Given the description of an element on the screen output the (x, y) to click on. 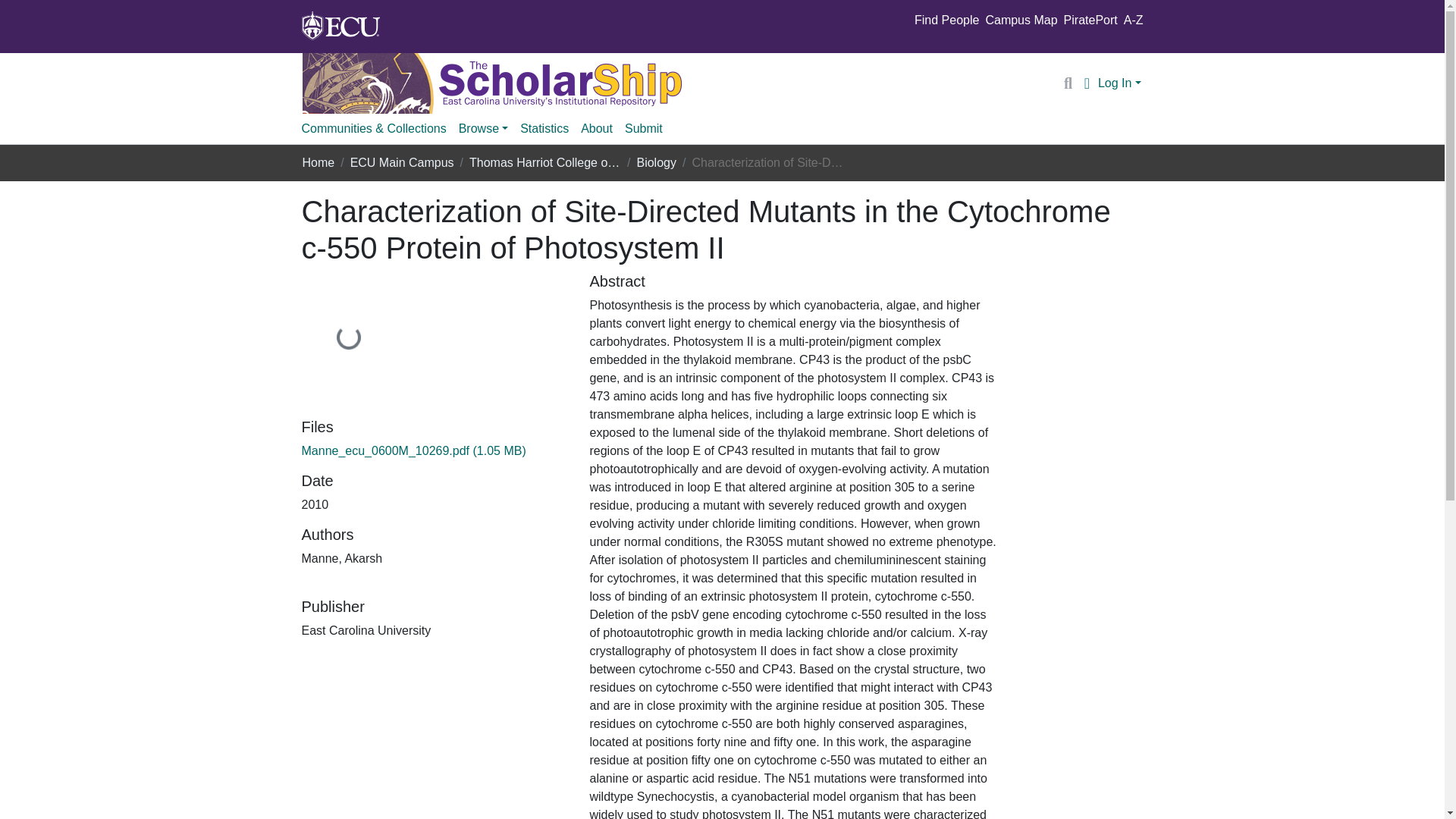
Log In (1119, 82)
Home (317, 162)
Browse (482, 128)
ECU Wordmark (340, 25)
Biology (655, 162)
A-Z (1133, 19)
ECU Main Campus (402, 162)
Statistics (544, 128)
Search (1067, 83)
Submit (643, 128)
